Given the description of an element on the screen output the (x, y) to click on. 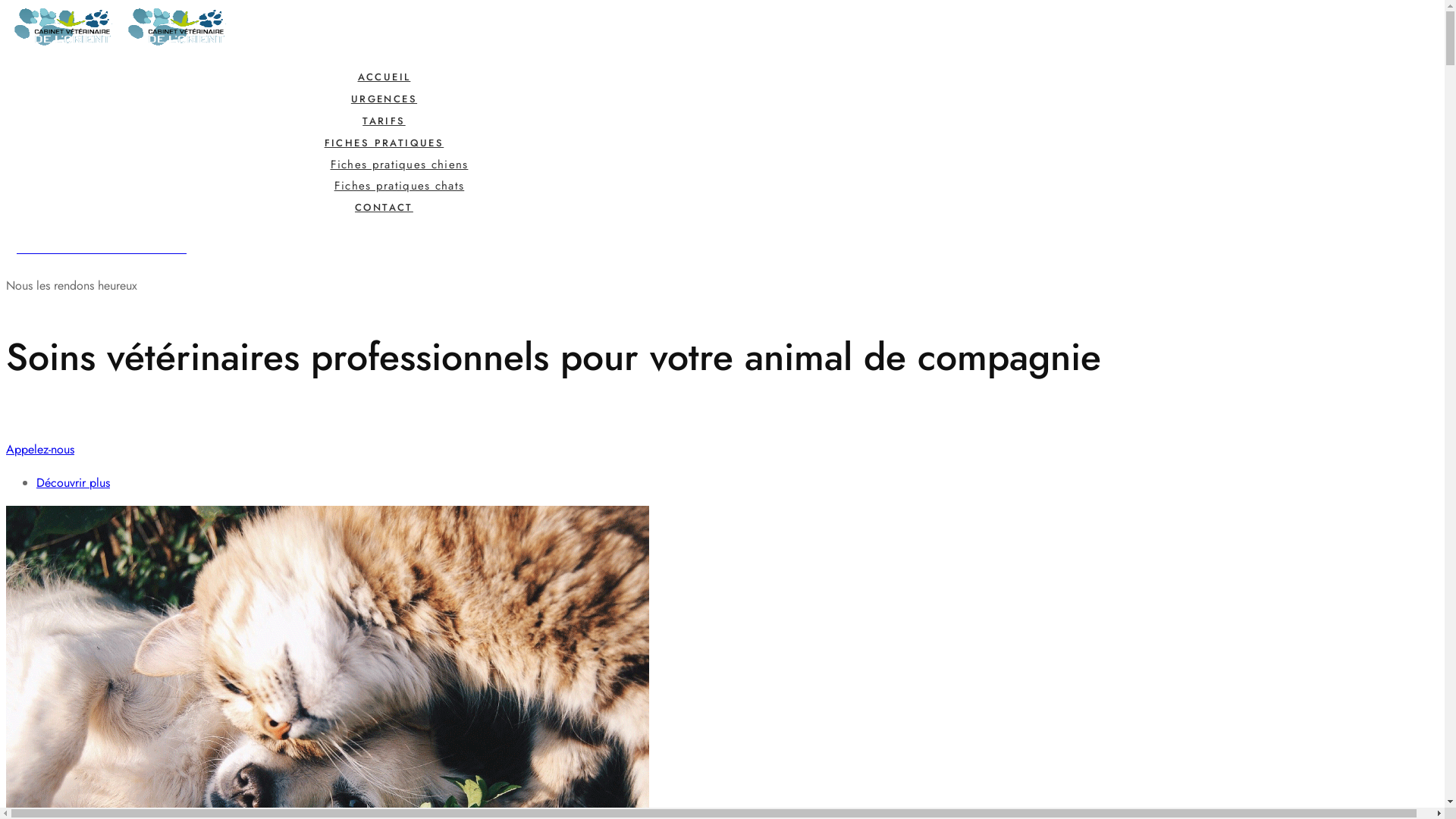
Fiches pratiques chats Element type: text (399, 185)
ACCUEIL Element type: text (384, 76)
CONTACT Element type: text (383, 207)
TARIFS Element type: text (383, 120)
FICHES PRATIQUES Element type: text (384, 142)
PRENDRE UN RENDEZ-VOUS Element type: text (183, 246)
Fiches pratiques chiens Element type: text (399, 164)
URGENCES Element type: text (384, 98)
Appelez-nous Element type: text (722, 449)
